Given the description of an element on the screen output the (x, y) to click on. 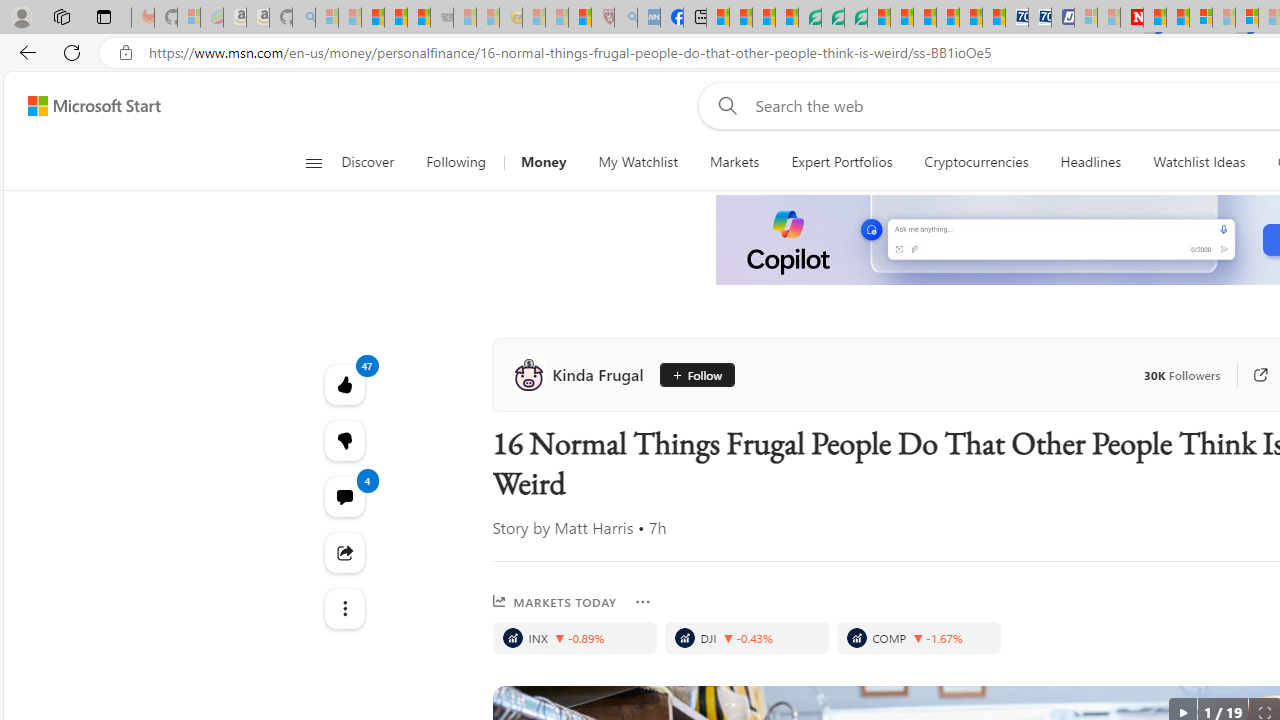
New Report Confirms 2023 Was Record Hot | Watch (419, 17)
Open navigation menu (313, 162)
Robert H. Shmerling, MD - Harvard Health - Sleeping (602, 17)
Discover (367, 162)
Money (543, 162)
Follow (697, 374)
Markets (733, 162)
Combat Siege (442, 17)
New tab (694, 17)
Cheap Hotels - Save70.com (1039, 17)
Cryptocurrencies (975, 162)
Price decrease (918, 637)
Local - MSN (580, 17)
